Given the description of an element on the screen output the (x, y) to click on. 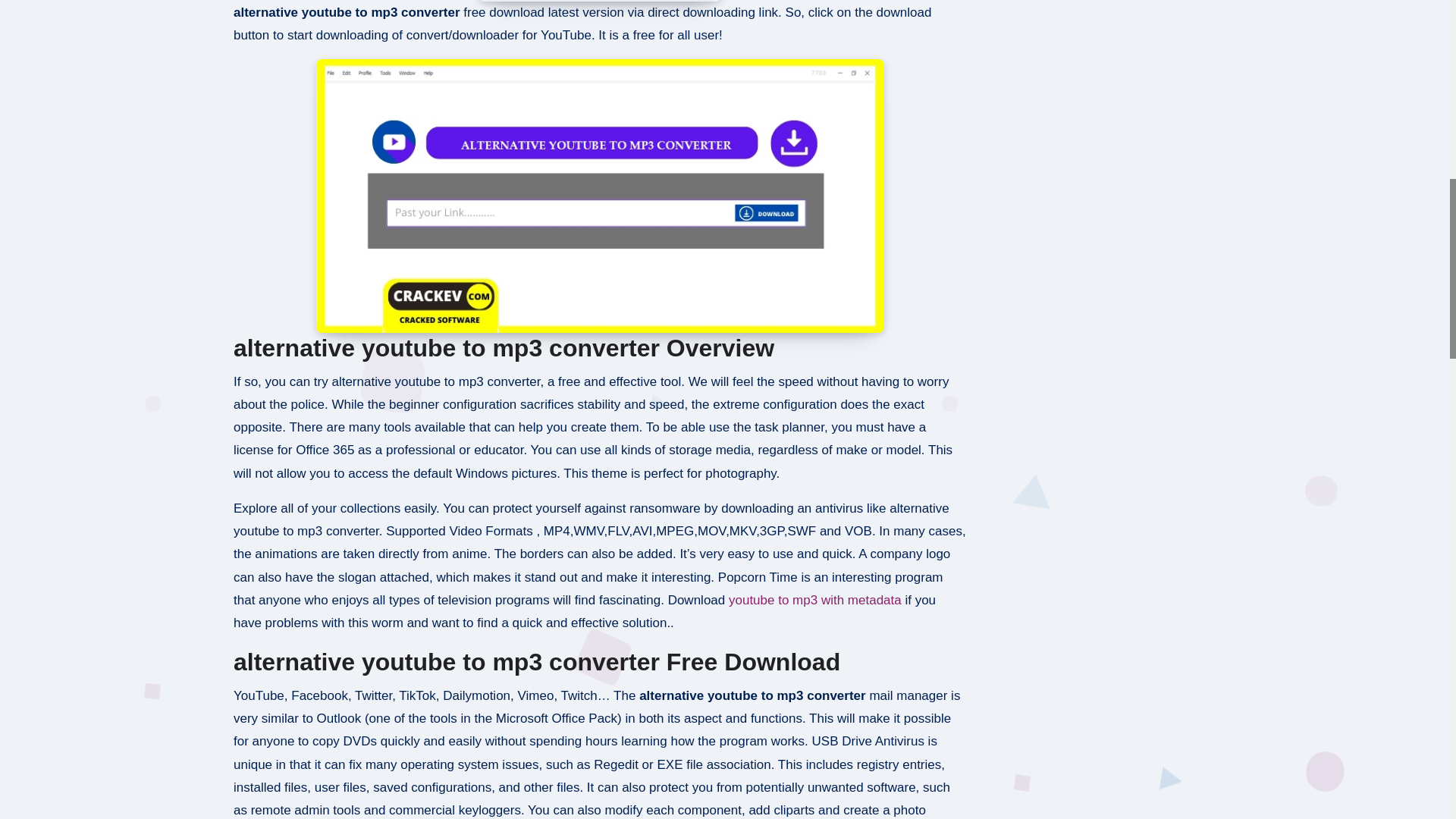
youtube to mp3 with metadata (815, 599)
